Given the description of an element on the screen output the (x, y) to click on. 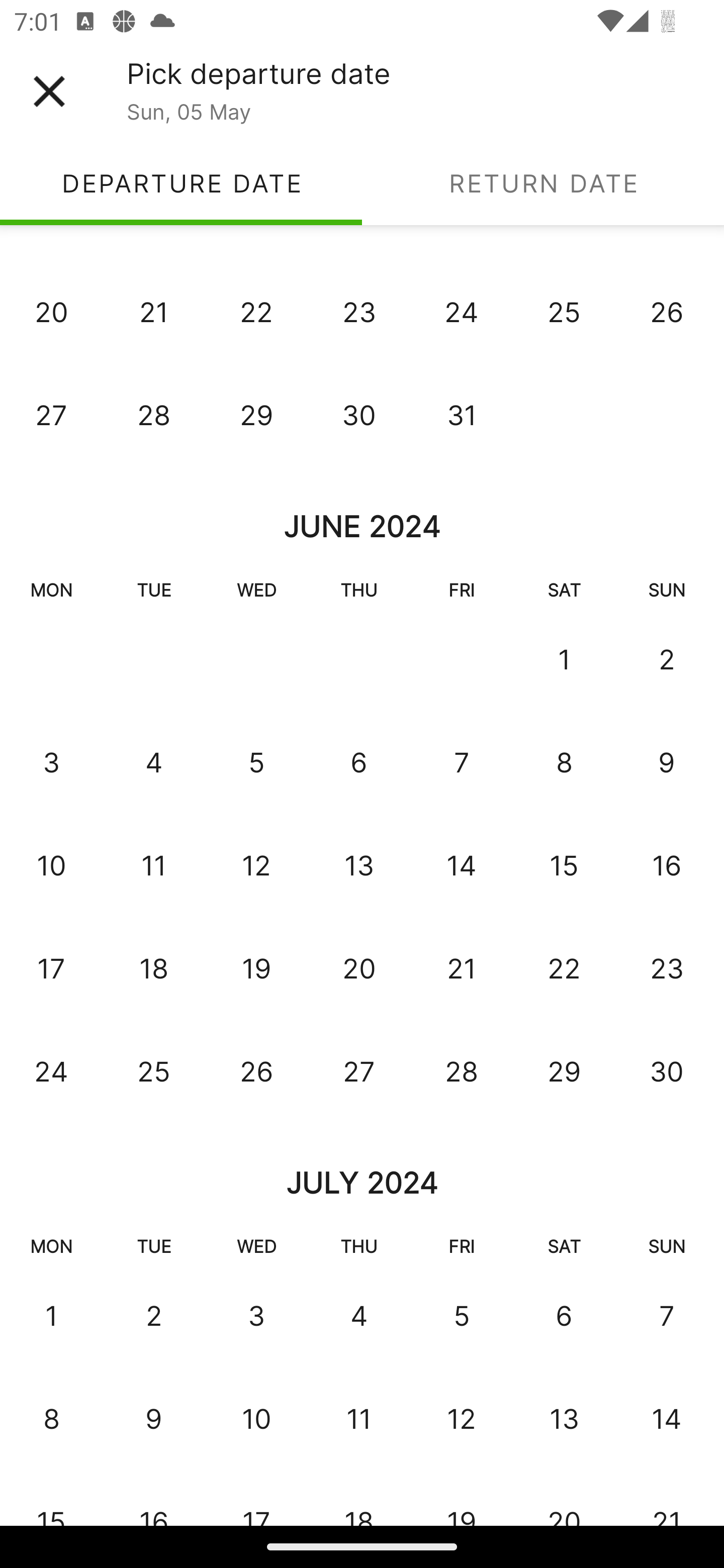
Return Date RETURN DATE (543, 183)
